Given the description of an element on the screen output the (x, y) to click on. 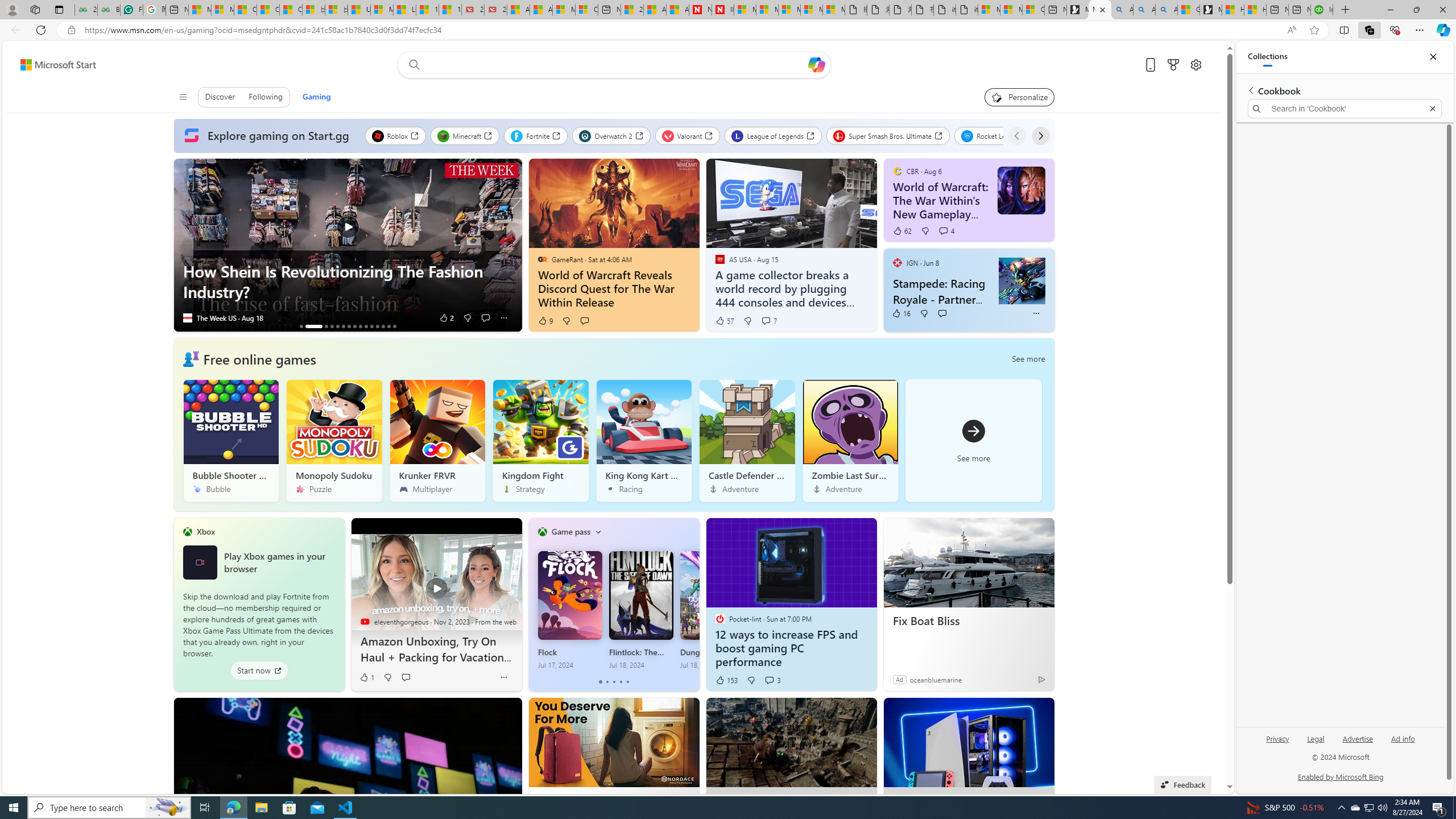
Fortnite (535, 135)
Start now (259, 670)
Zombie Last Survivor (850, 440)
AutomationID: tab_nativead-resinfopane-6 (342, 326)
Explore gaming on Start.gg (269, 135)
Game pass (570, 531)
The Week US (187, 317)
AutomationID: tab_nativead-infopane-11 (371, 326)
View comments 3 Comment (769, 679)
Previous (1016, 135)
Newsweek - News, Analysis, Politics, Business, Technology (700, 9)
